Given the description of an element on the screen output the (x, y) to click on. 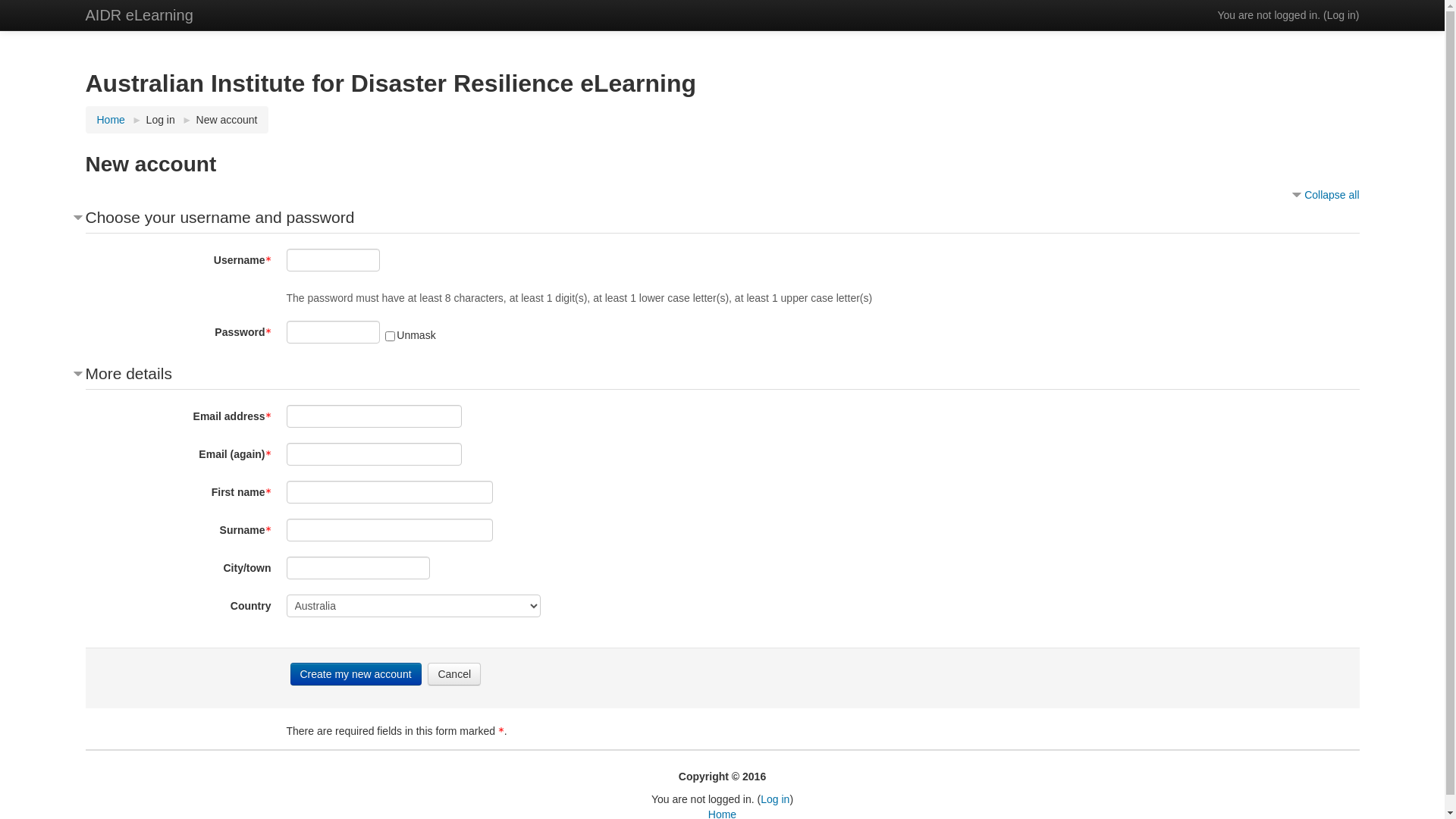
Required field Element type: hover (268, 260)
Cancel Element type: text (453, 673)
More details Element type: text (122, 373)
Home Element type: text (111, 119)
Create my new account Element type: text (354, 673)
AIDR eLearning Element type: text (138, 15)
Required field Element type: hover (268, 416)
Log in Element type: text (1341, 15)
Required field Element type: hover (268, 530)
Collapse all Element type: text (1323, 194)
Log in Element type: text (774, 799)
Required field Element type: hover (268, 332)
Required field Element type: hover (268, 492)
Required field Element type: hover (268, 454)
Choose your username and password Element type: text (213, 216)
